Given the description of an element on the screen output the (x, y) to click on. 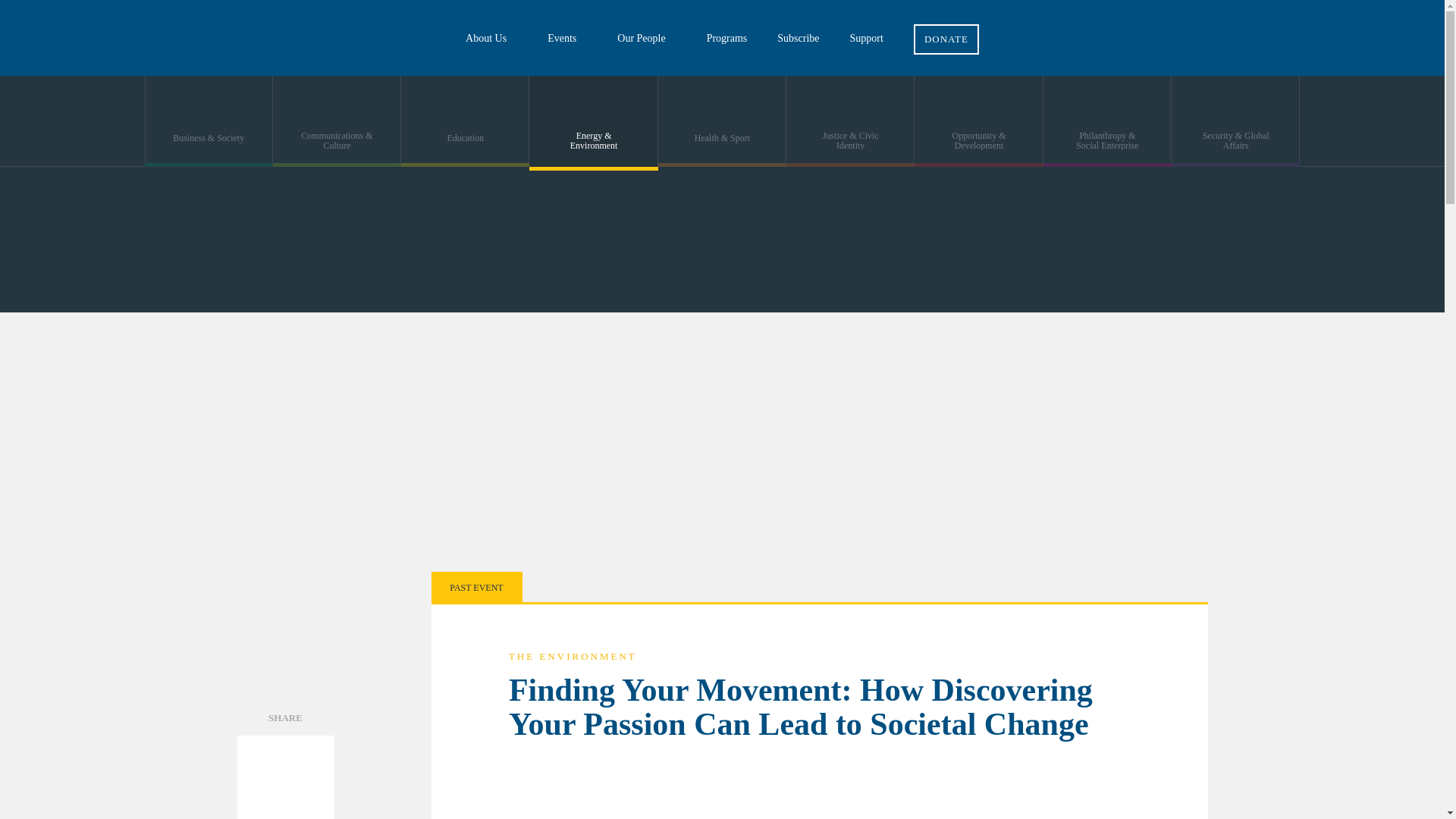
Subscribe (797, 38)
DONATE (946, 27)
The Aspen Institute (113, 38)
Events (567, 38)
Our People (646, 38)
Programs (726, 38)
About Us (490, 38)
Education (465, 121)
